Given the description of an element on the screen output the (x, y) to click on. 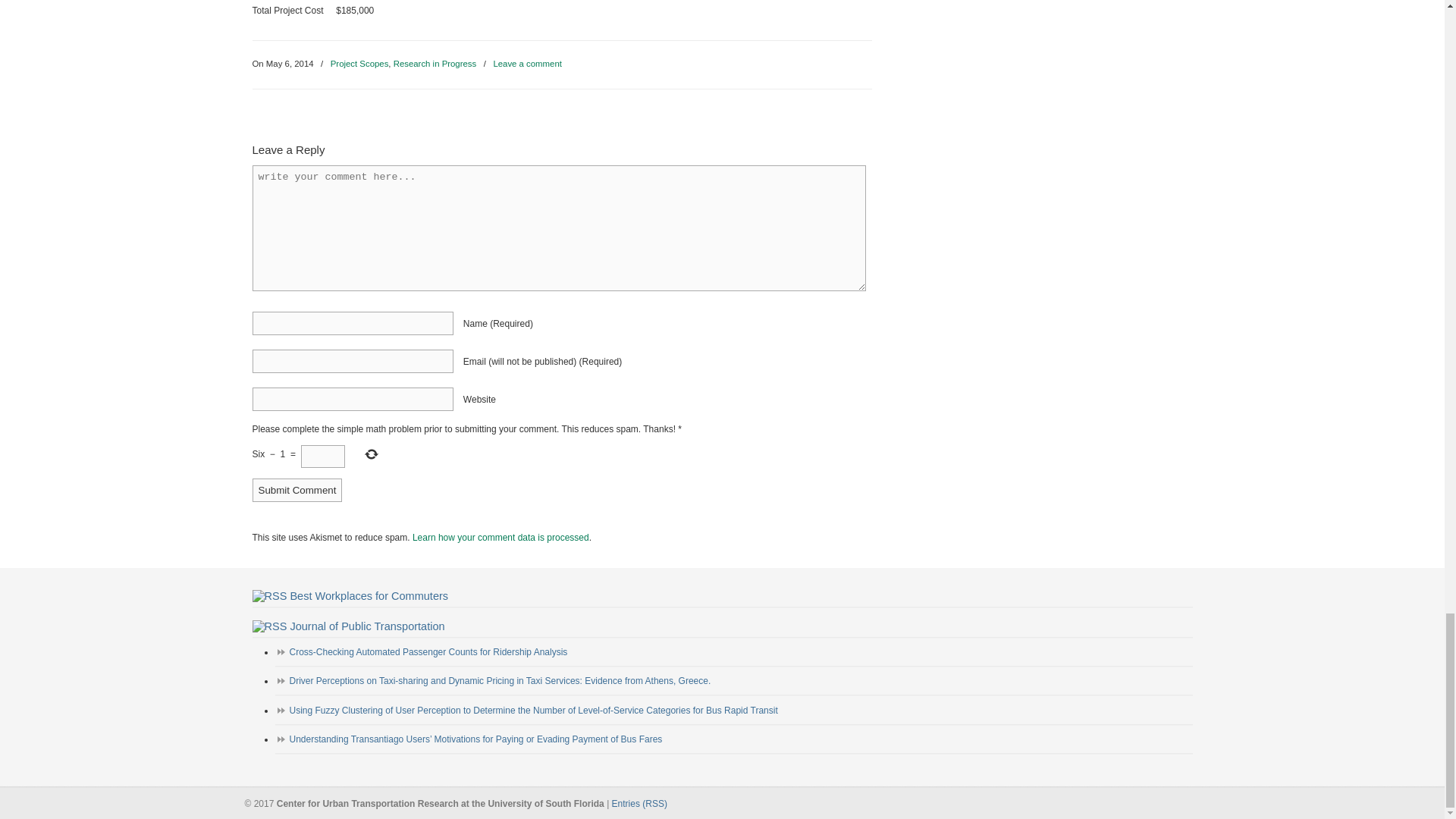
Leave a comment (527, 63)
Research in Progress (435, 63)
Best Workplaces for Commuters (368, 595)
Learn how your comment data is processed (500, 537)
Submit Comment (296, 490)
Submit Comment (296, 490)
Journal of Public Transportation (366, 625)
Project Scopes (359, 63)
